Given the description of an element on the screen output the (x, y) to click on. 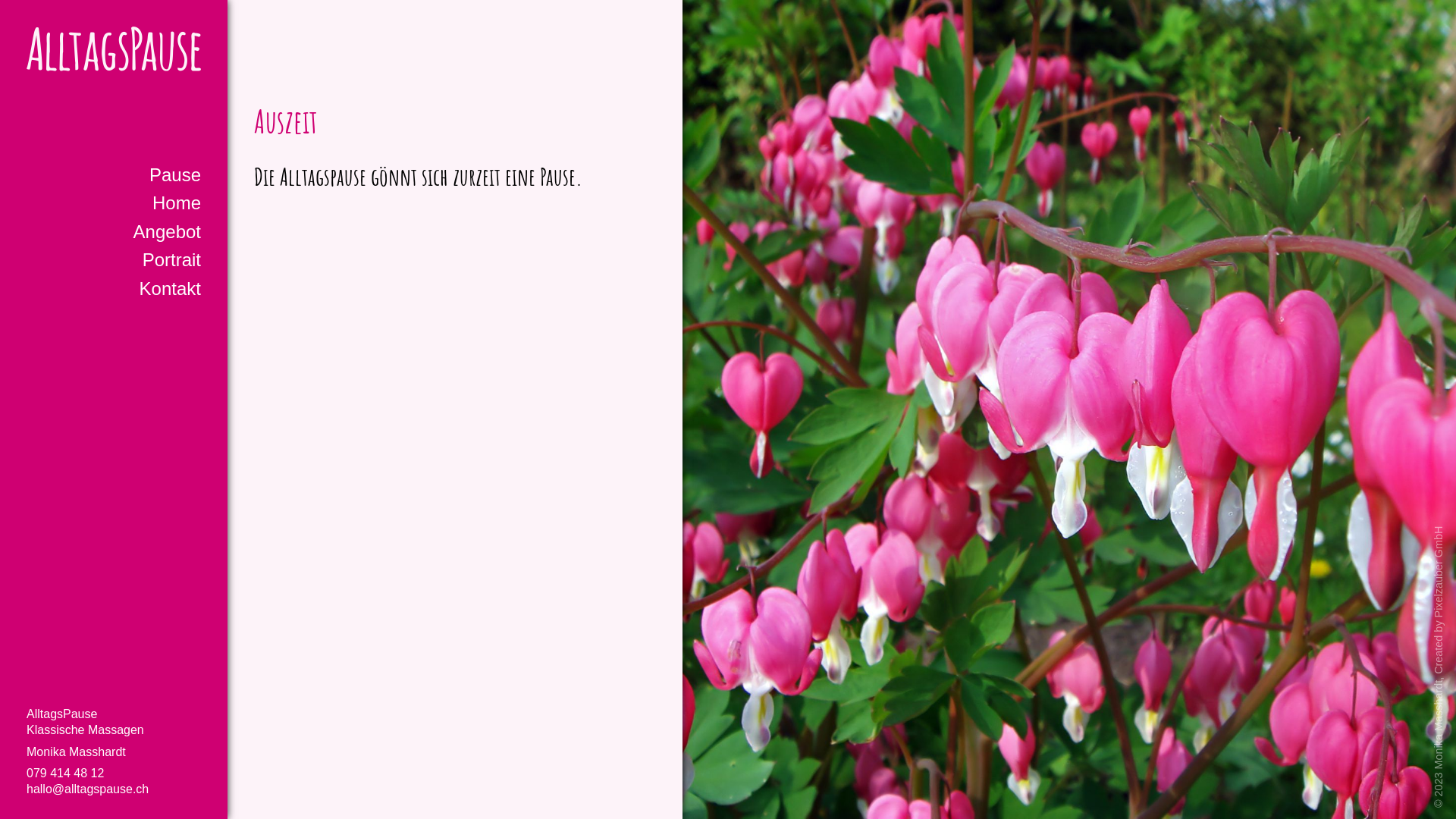
Kontakt Element type: text (169, 289)
hallo@alltagspause.ch Element type: text (87, 788)
Portrait Element type: text (171, 260)
Home Element type: text (176, 203)
Angebot Element type: text (166, 232)
Pause Element type: text (174, 175)
